Given the description of an element on the screen output the (x, y) to click on. 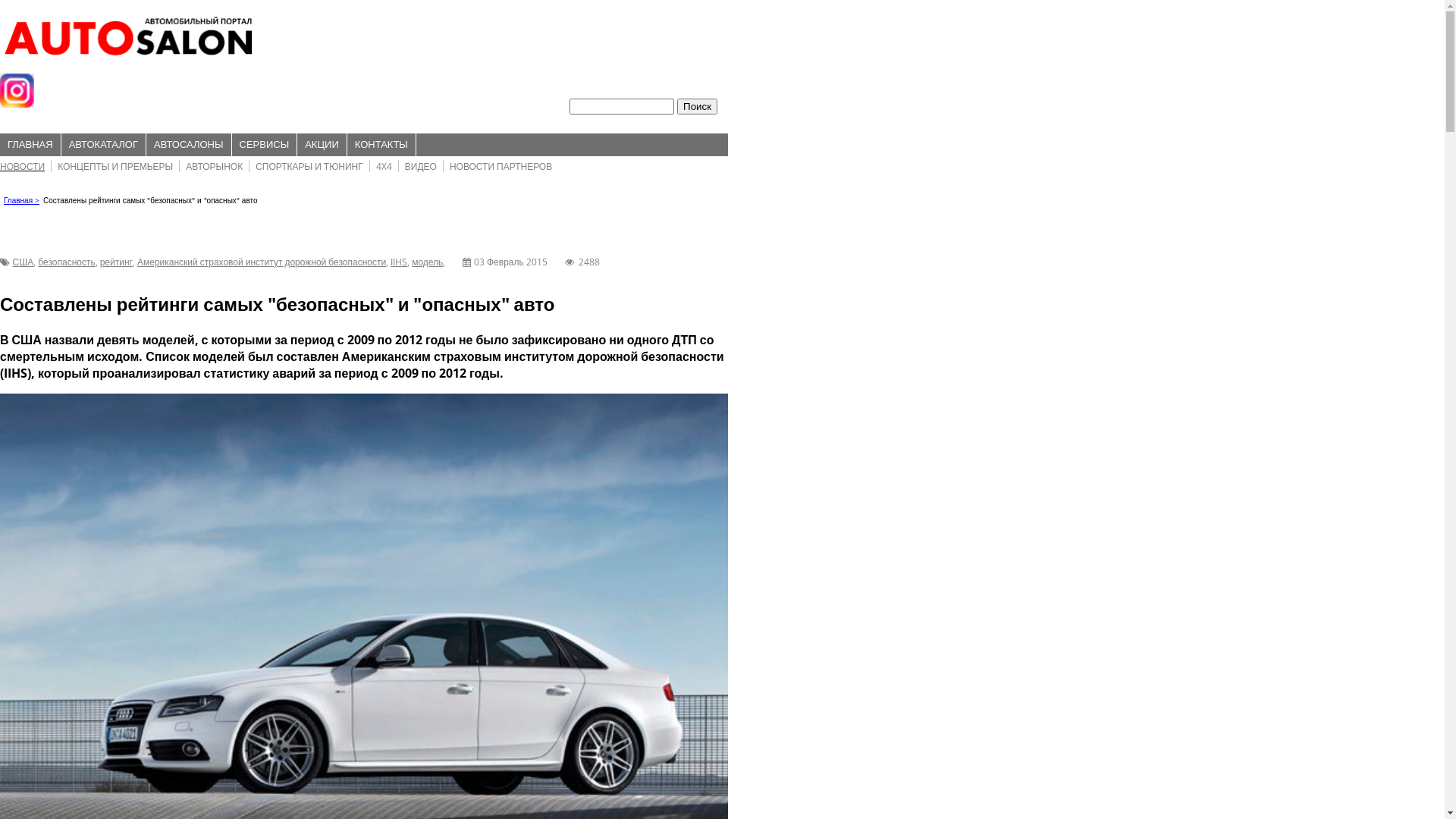
4X4 Element type: text (384, 166)
IIHS Element type: text (398, 261)
